Given the description of an element on the screen output the (x, y) to click on. 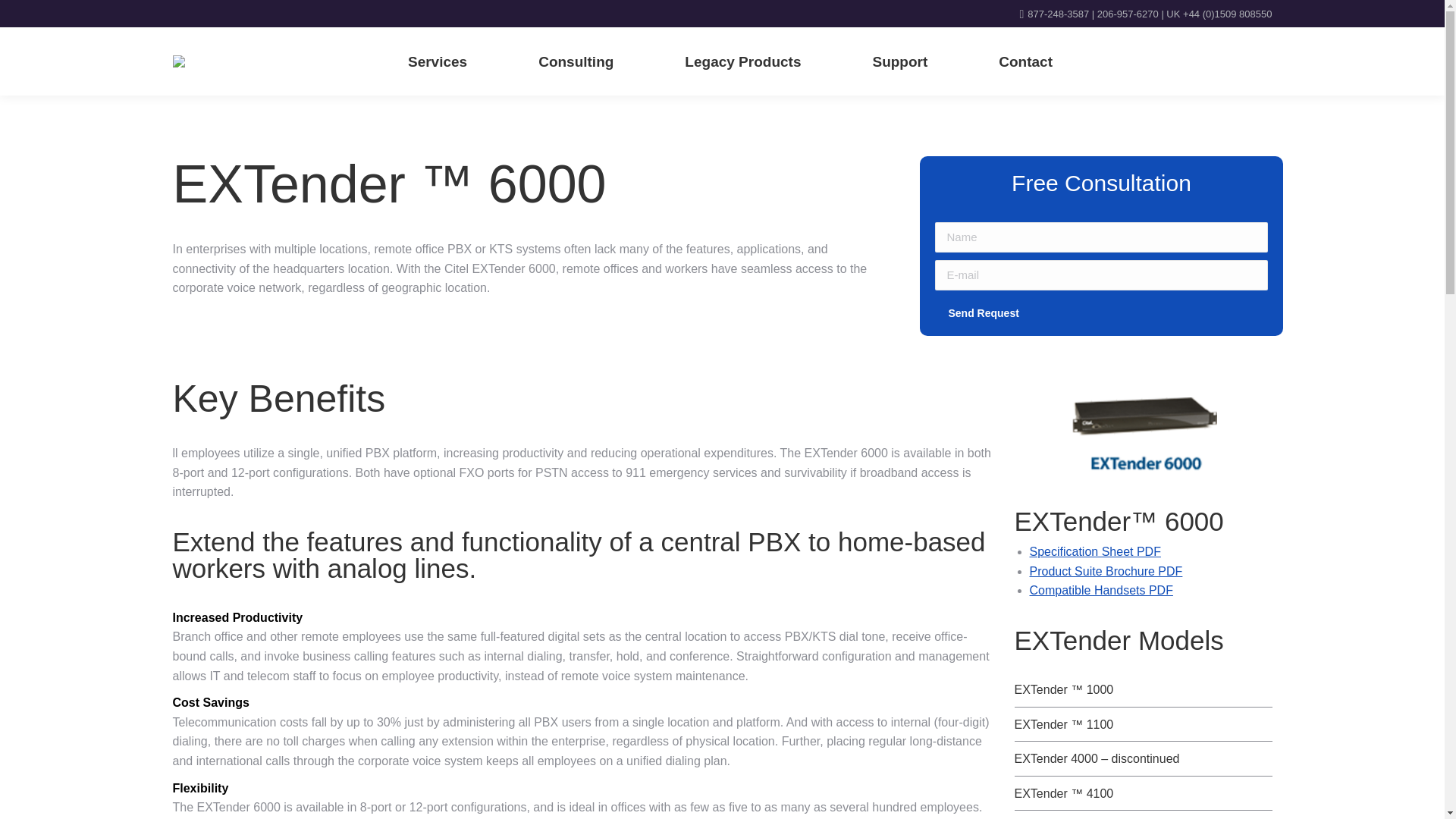
Services (437, 60)
extender-6000x800x311 (1143, 431)
Legacy Products (742, 60)
submit (1073, 314)
Send Request (983, 313)
Consulting (575, 60)
Contact (1025, 60)
submit (1073, 314)
Support (899, 60)
